Given the description of an element on the screen output the (x, y) to click on. 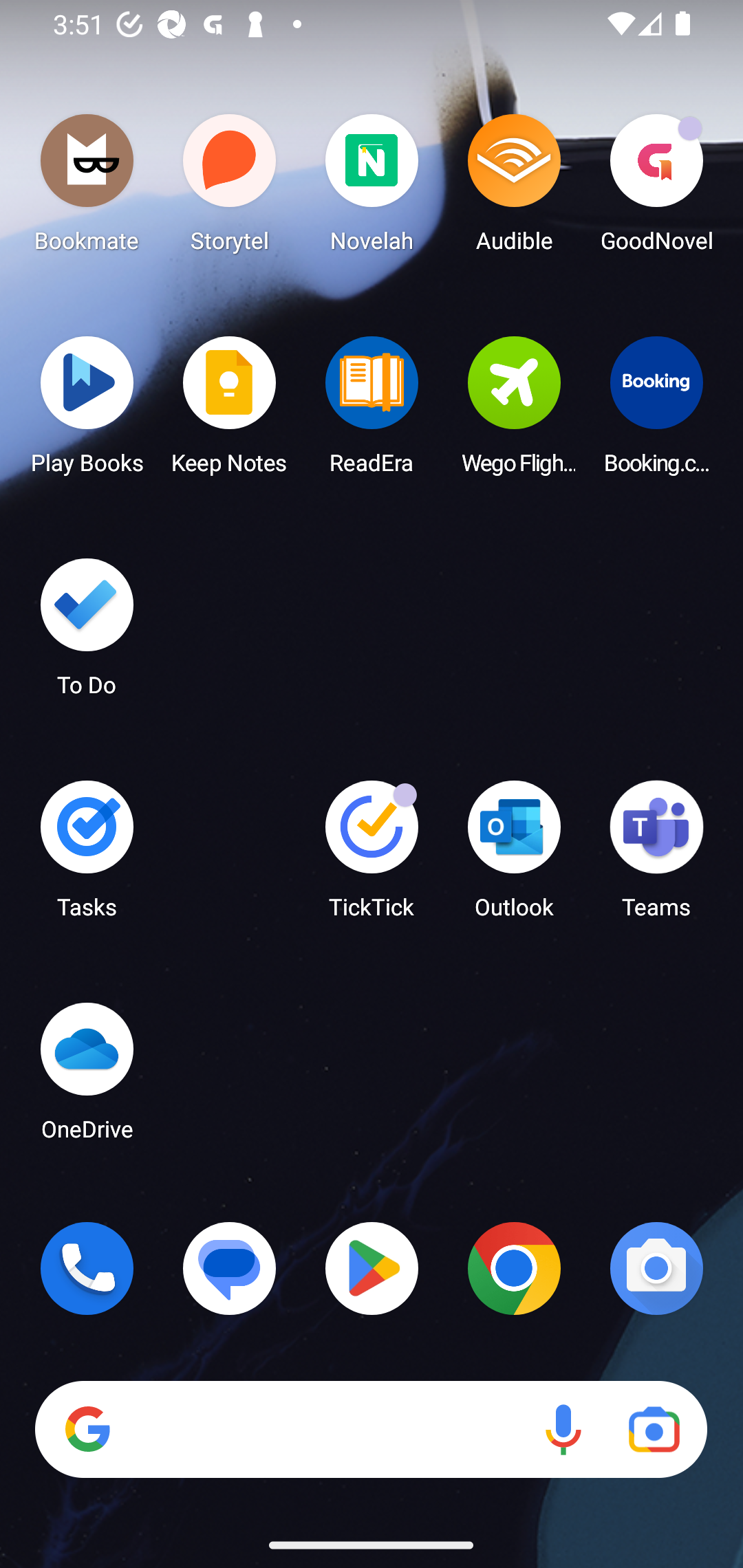
Bookmate (86, 188)
Storytel (229, 188)
Novelah (371, 188)
Audible (513, 188)
GoodNovel GoodNovel has 1 notification (656, 188)
Play Books (86, 410)
Keep Notes (229, 410)
ReadEra (371, 410)
Wego Flights & Hotels (513, 410)
Booking.com (656, 410)
To Do (86, 633)
Tasks (86, 854)
TickTick TickTick has 3 notifications (371, 854)
Outlook (513, 854)
Teams (656, 854)
OneDrive (86, 1076)
Phone (86, 1268)
Messages (229, 1268)
Play Store (371, 1268)
Chrome (513, 1268)
Camera (656, 1268)
Search Voice search Google Lens (370, 1429)
Voice search (562, 1429)
Google Lens (653, 1429)
